Given the description of an element on the screen output the (x, y) to click on. 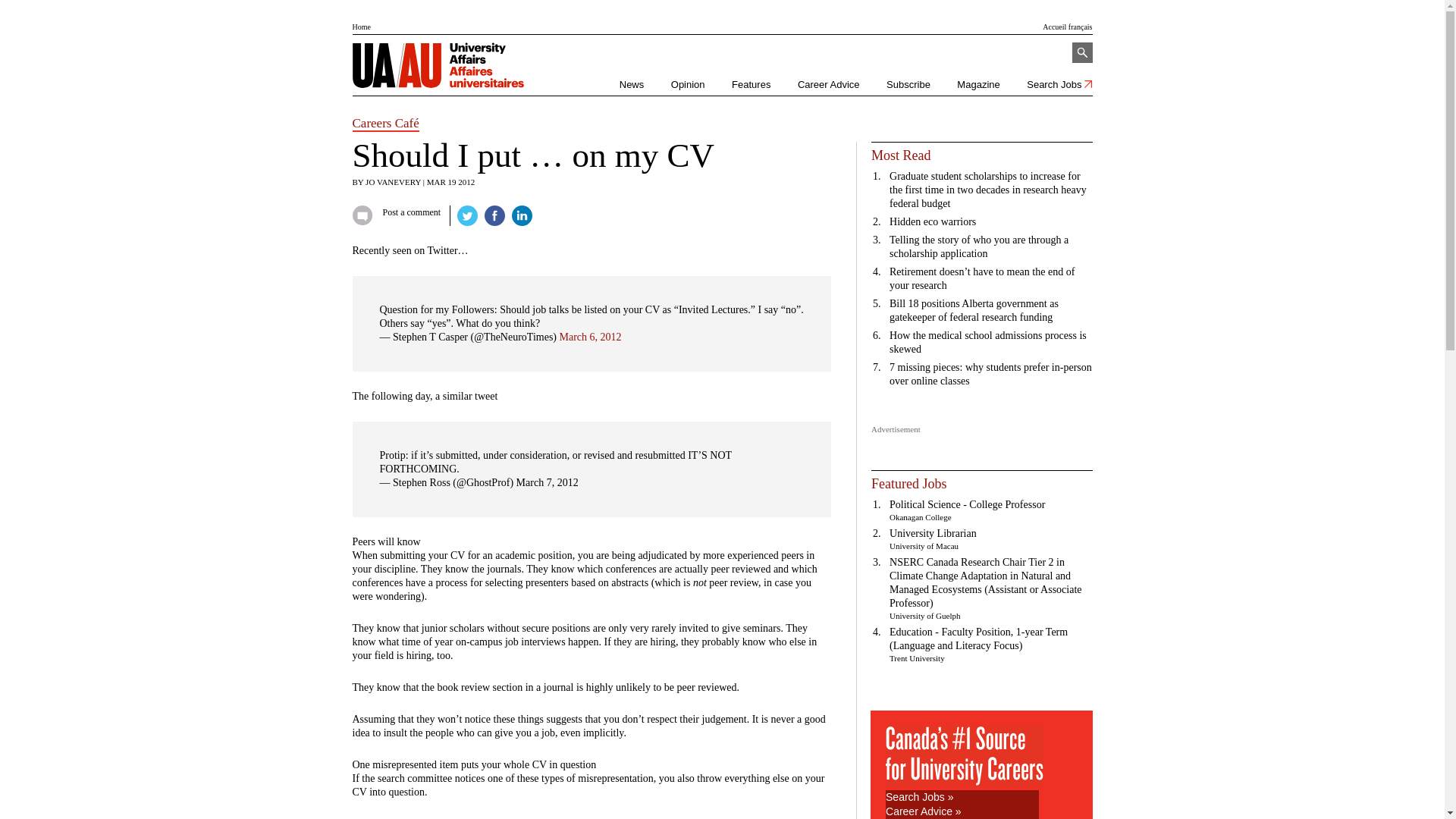
Magazine (977, 84)
Search (1082, 52)
Opinion (687, 84)
Home (360, 26)
News (632, 84)
Features (751, 84)
Search (1082, 52)
Subscribe (908, 84)
Career Advice (828, 84)
